Given the description of an element on the screen output the (x, y) to click on. 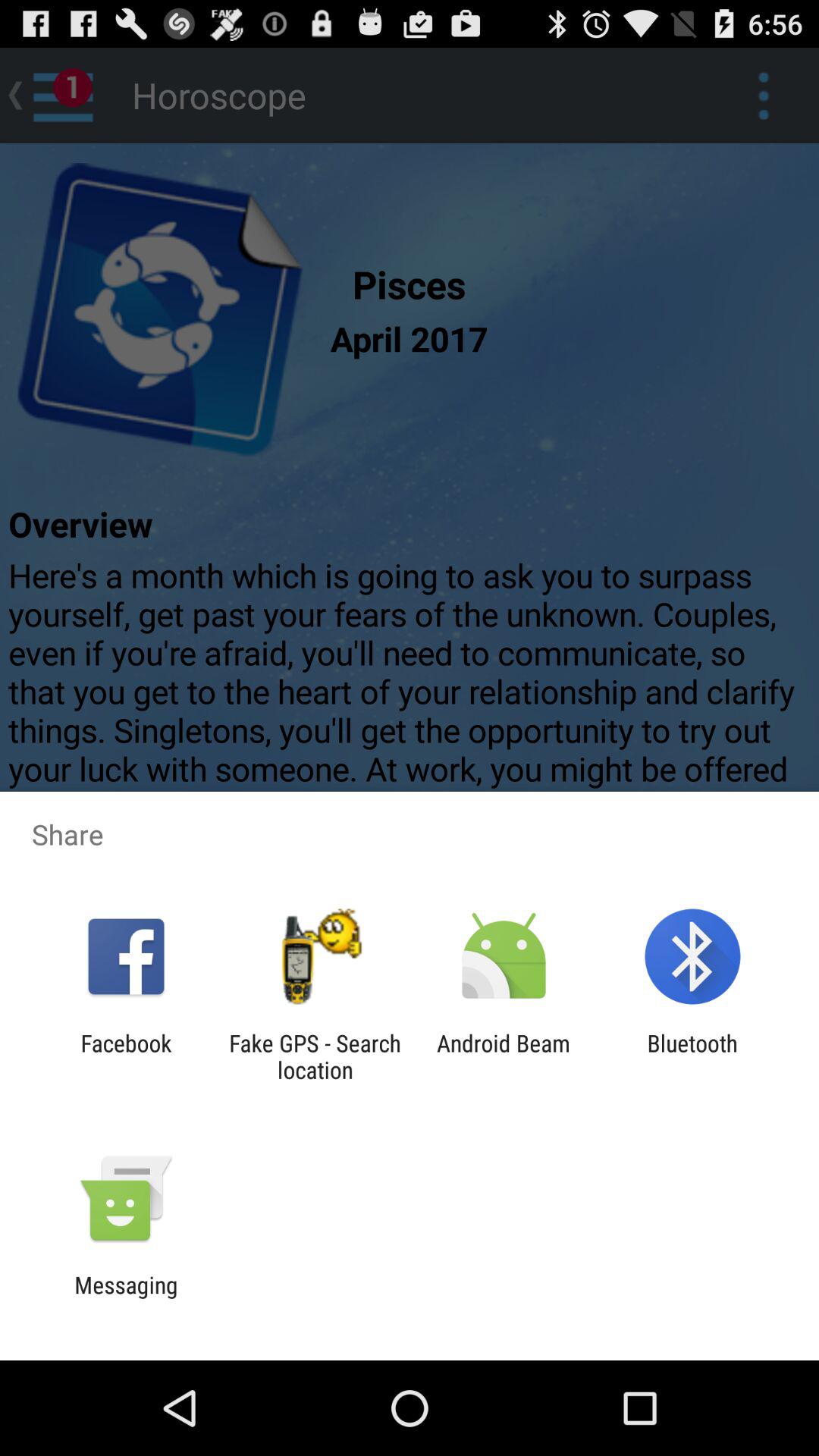
jump to facebook item (125, 1056)
